Given the description of an element on the screen output the (x, y) to click on. 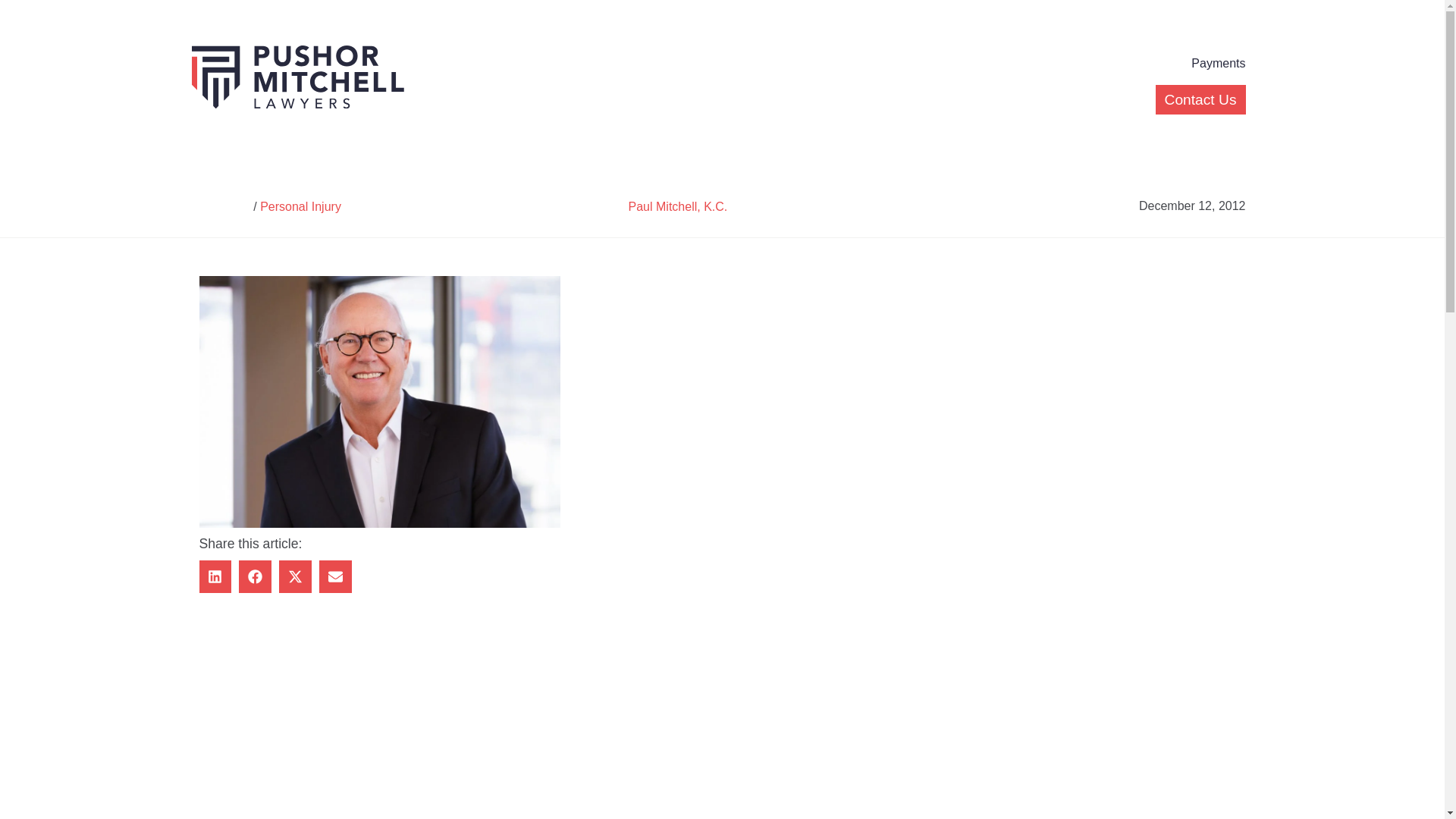
Payments (1217, 63)
Paul Mitchell, K.C. (678, 205)
Posts by Paul Mitchell, K.C. (678, 205)
Contact Us (1201, 99)
Personal Injury (300, 205)
